Given the description of an element on the screen output the (x, y) to click on. 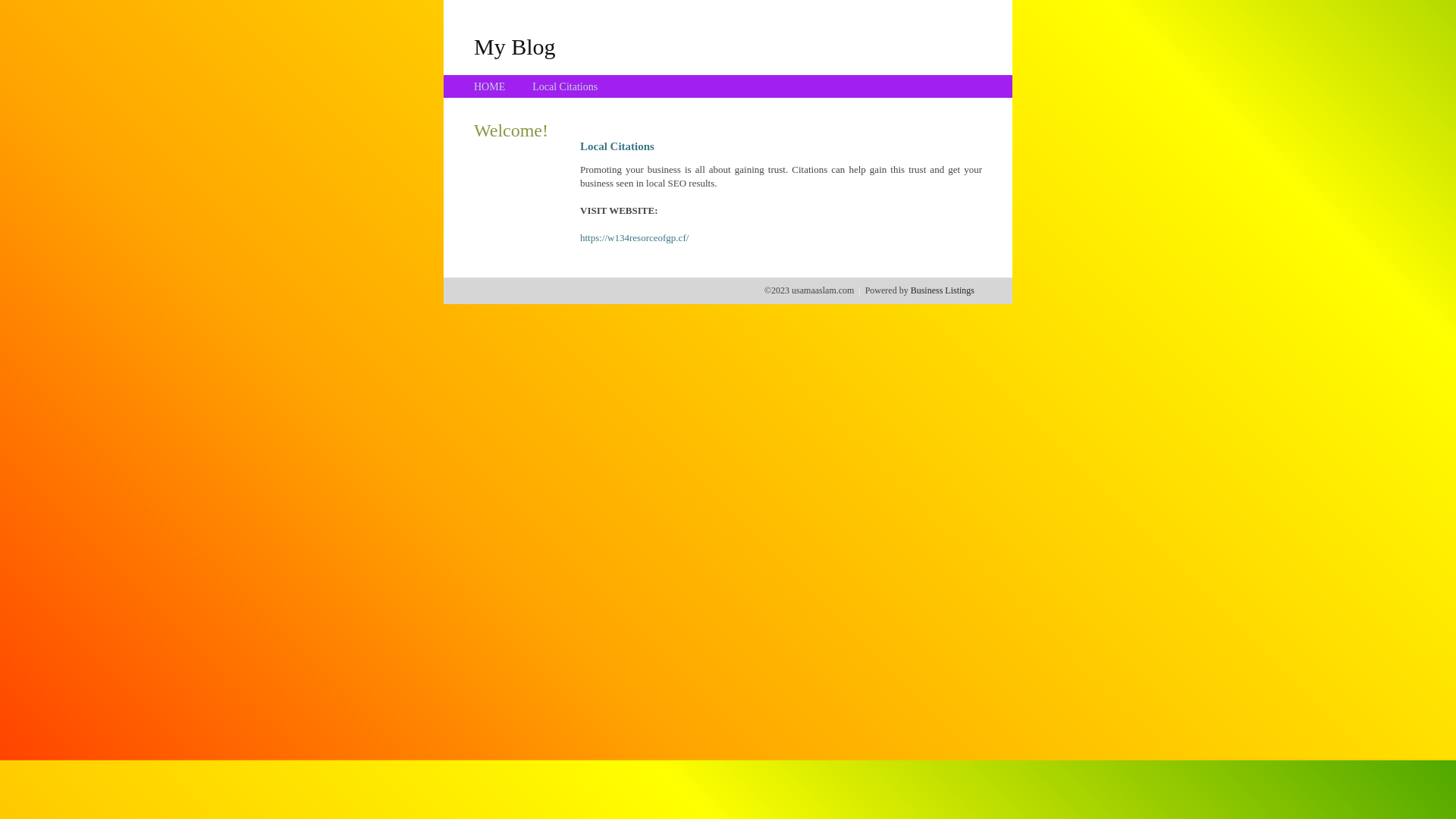
Local Citations Element type: text (564, 86)
https://w134resorceofgp.cf/ Element type: text (634, 237)
Business Listings Element type: text (942, 290)
HOME Element type: text (489, 86)
My Blog Element type: text (514, 46)
